Given the description of an element on the screen output the (x, y) to click on. 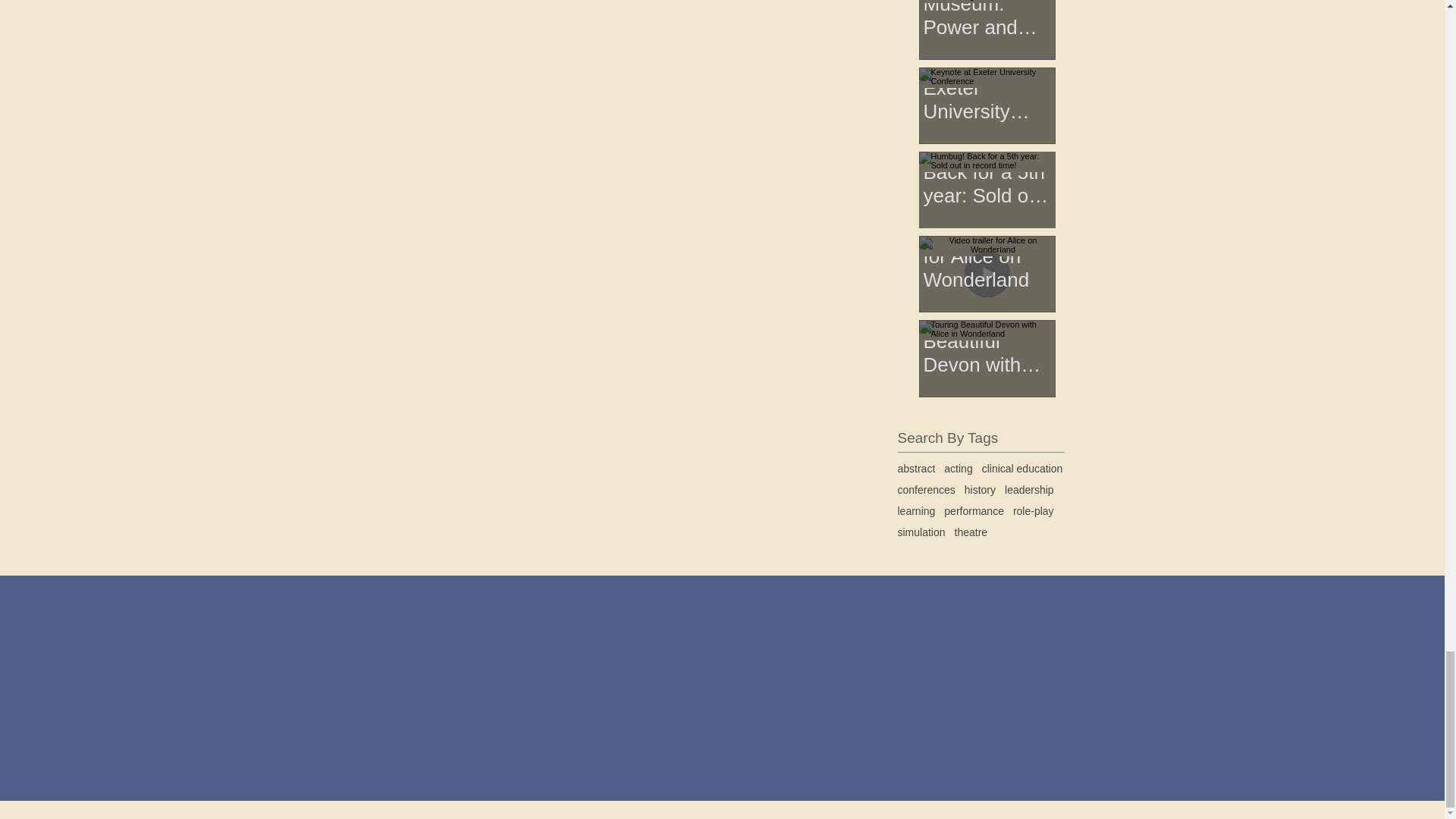
leadership (1029, 490)
abstract (917, 468)
Touring Beautiful Devon with Alice in Wonderland (987, 333)
Video trailer for Alice on Wonderland (987, 249)
simulation (921, 532)
Humbug! Back for a 5th year: Sold out in record time! (987, 165)
learning (917, 510)
history (979, 490)
Keynote at Exeter University Conference (987, 81)
Science Museum: Power and Fundraising (987, 19)
